Given the description of an element on the screen output the (x, y) to click on. 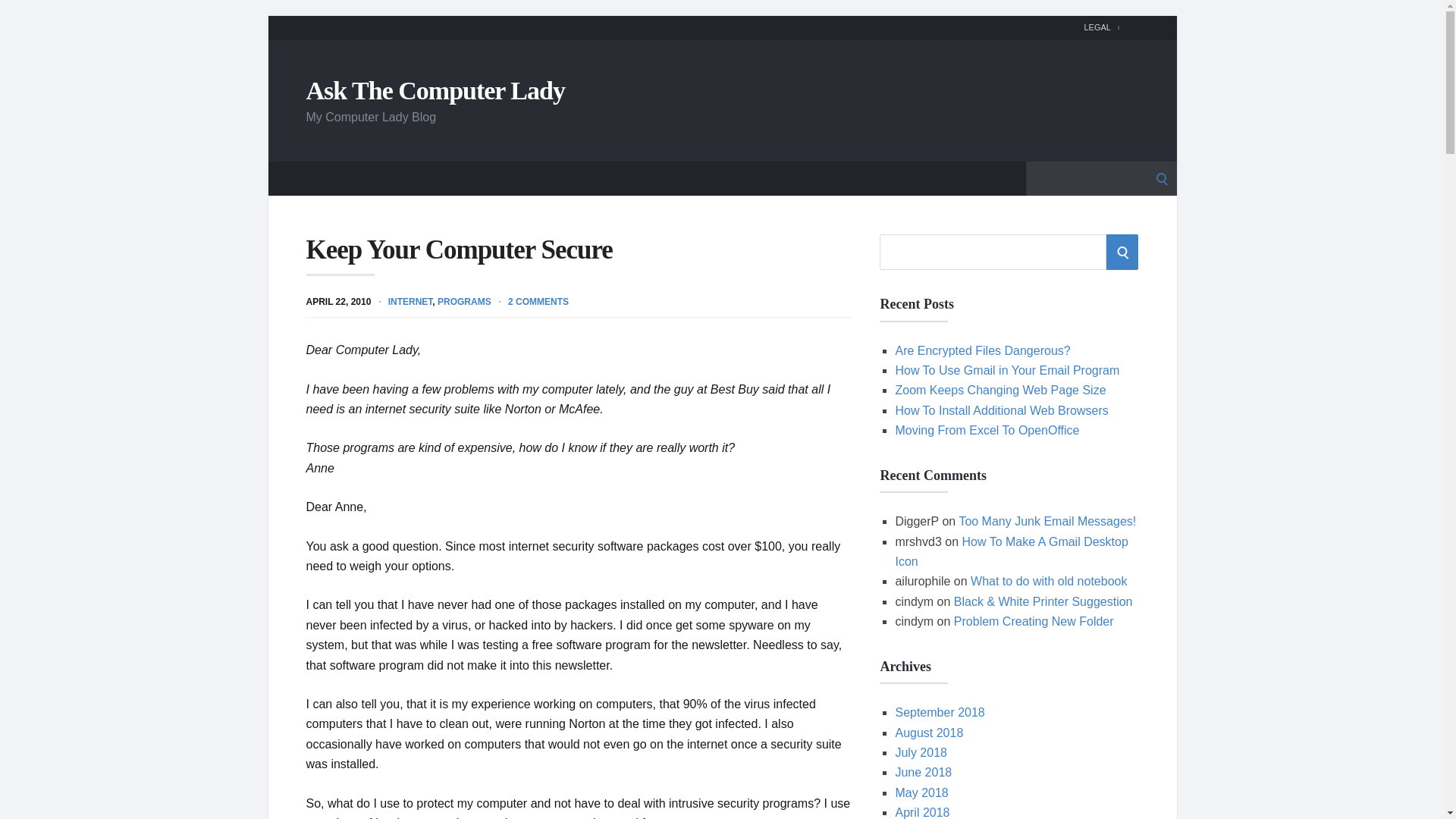
August 2018 (928, 732)
July 2018 (921, 752)
Zoom Keeps Changing Web Page Size (1000, 390)
Search (16, 17)
Problem Creating New Folder (1033, 621)
April 2018 (922, 812)
Moving From Excel To OpenOffice (986, 430)
How To Make A Gmail Desktop Icon (1010, 551)
Ask The Computer Lady (434, 89)
Too Many Junk Email Messages! (1046, 521)
How To Use Gmail in Your Email Program (1007, 369)
September 2018 (939, 712)
May 2018 (921, 792)
LEGAL (1101, 27)
What to do with old notebook (1048, 581)
